Given the description of an element on the screen output the (x, y) to click on. 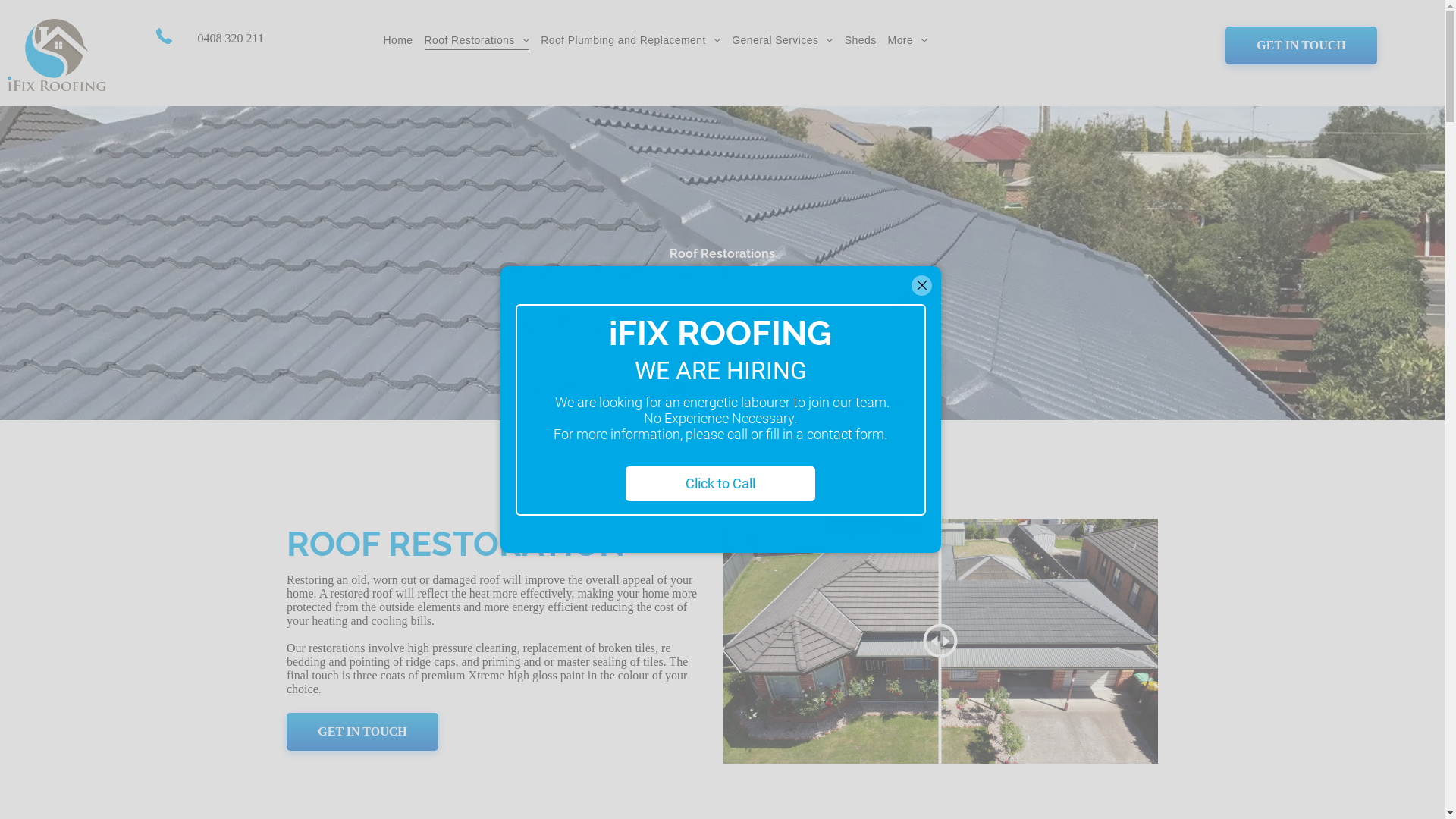
Sheds Element type: text (866, 40)
Roof Restorations Element type: text (482, 40)
Roof Plumbing and Replacement Element type: text (635, 40)
GET IN TOUCH Element type: text (1301, 45)
More Element type: text (913, 40)
General Services Element type: text (787, 40)
Home Element type: text (403, 40)
 0408 320 211 Element type: text (228, 37)
GET IN TOUCH Element type: text (362, 731)
